Given the description of an element on the screen output the (x, y) to click on. 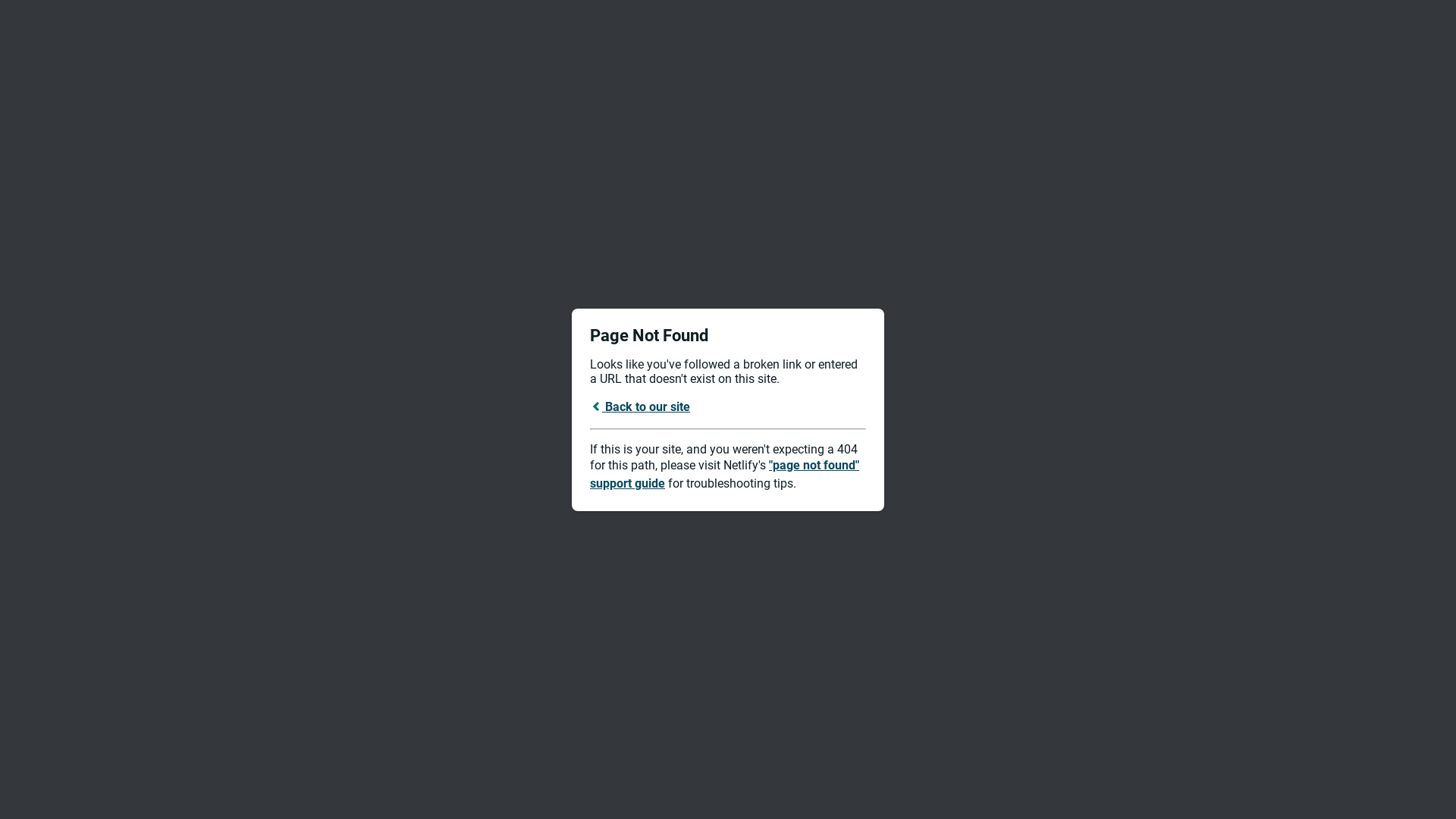
"page not found" support guide Element type: text (724, 474)
Back to our site Element type: text (639, 405)
